Given the description of an element on the screen output the (x, y) to click on. 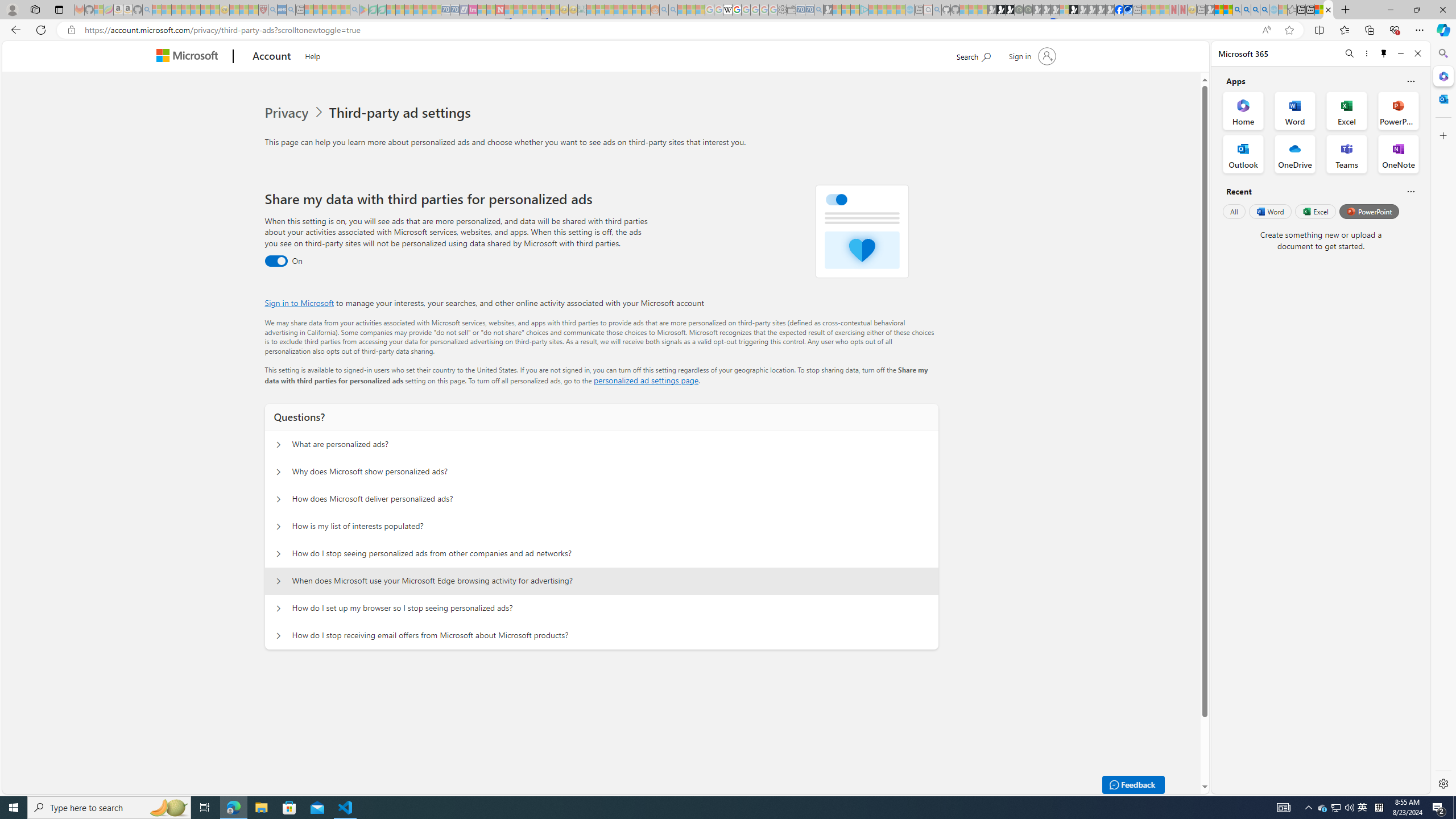
PowerPoint Office App (1398, 110)
2009 Bing officially replaced Live Search on June 3 - Search (1246, 9)
Questions? What are personalized ads? (278, 444)
Is this helpful? (1410, 191)
